Given the description of an element on the screen output the (x, y) to click on. 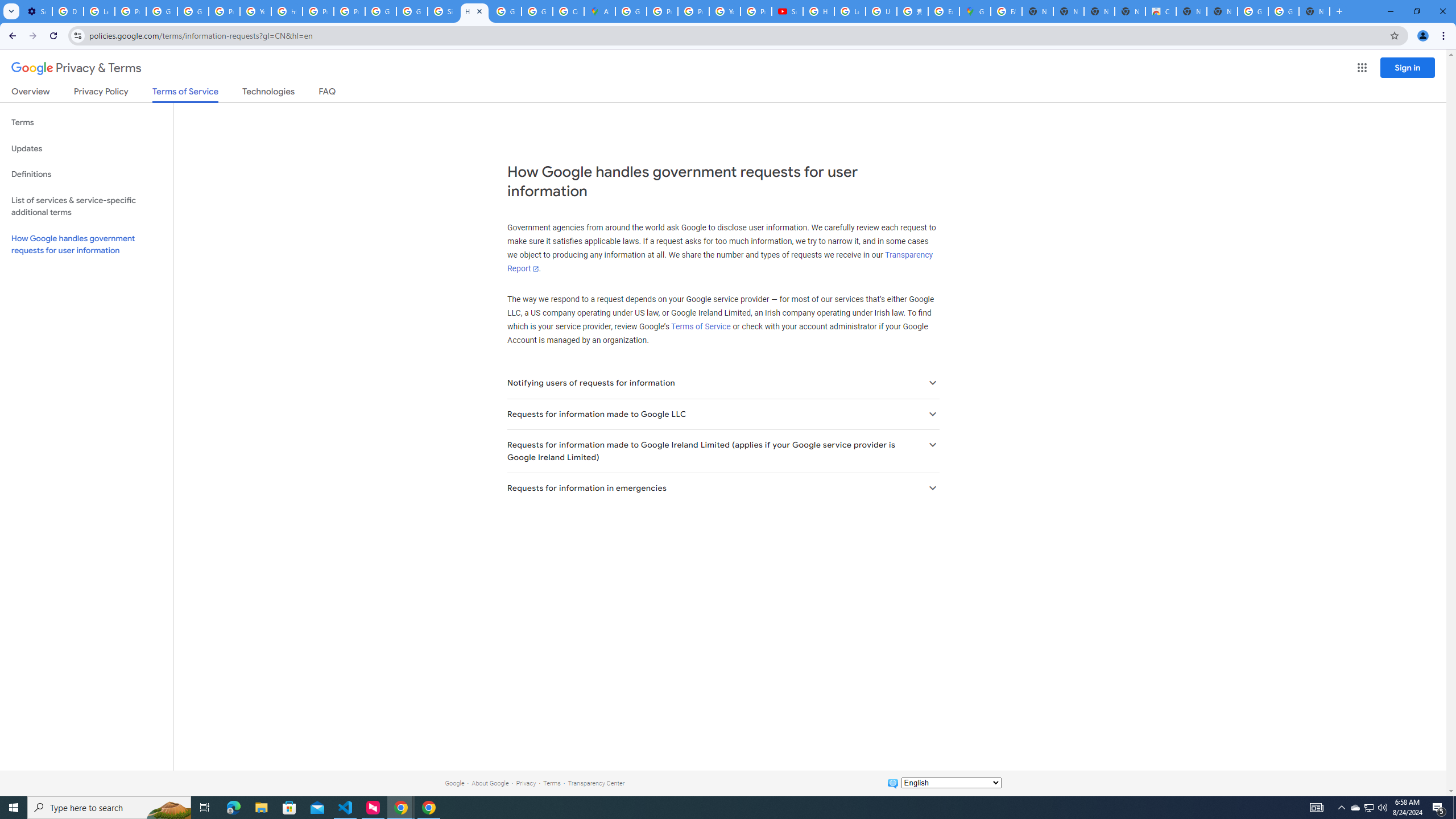
About Google (490, 783)
Change language: (951, 782)
Explore new street-level details - Google Maps Help (943, 11)
Subscriptions - YouTube (787, 11)
YouTube (255, 11)
